Given the description of an element on the screen output the (x, y) to click on. 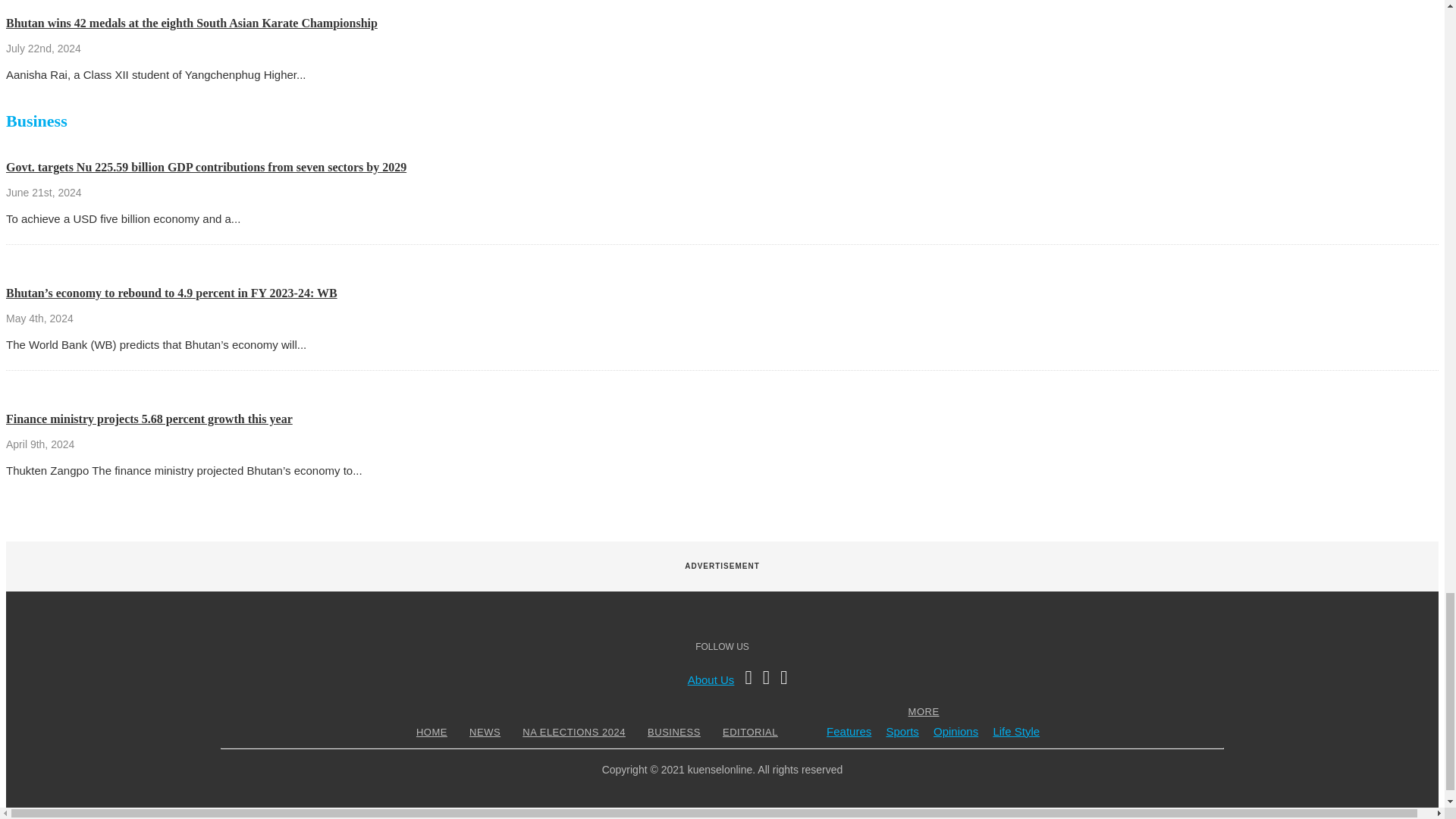
NEWS (484, 731)
EDITORIAL (750, 731)
MORE (923, 711)
NA ELECTIONS 2024 (573, 731)
Finance ministry projects 5.68 percent growth this year (148, 418)
About Us (711, 679)
HOME (431, 731)
BUSINESS (673, 731)
